Given the description of an element on the screen output the (x, y) to click on. 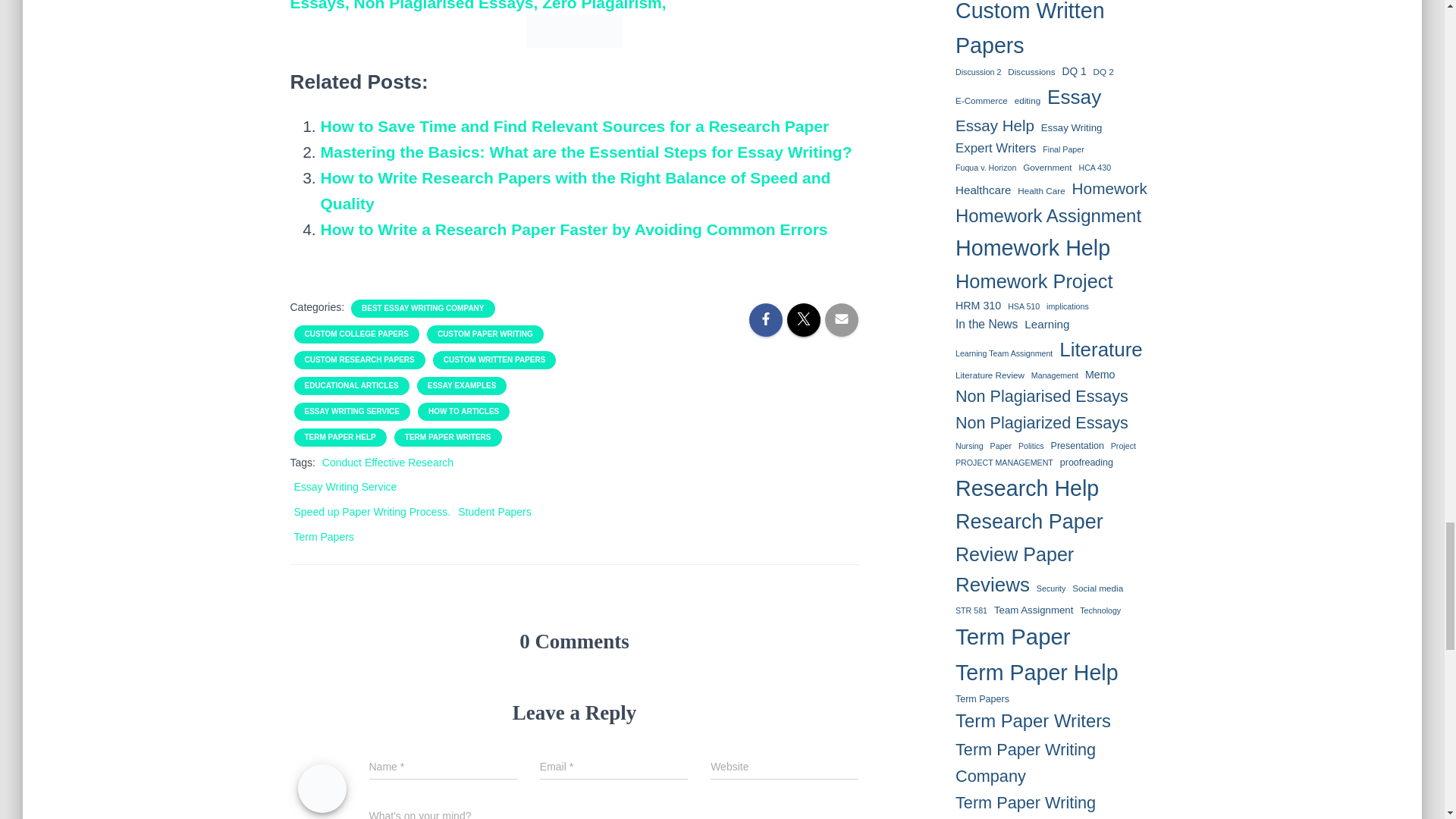
ESSAY EXAMPLES (461, 385)
TERM PAPER WRITERS (448, 437)
EDUCATIONAL ARTICLES (351, 385)
CUSTOM COLLEGE PAPERS (356, 334)
CUSTOM RESEARCH PAPERS (359, 359)
HOW TO ARTICLES (463, 411)
